Given the description of an element on the screen output the (x, y) to click on. 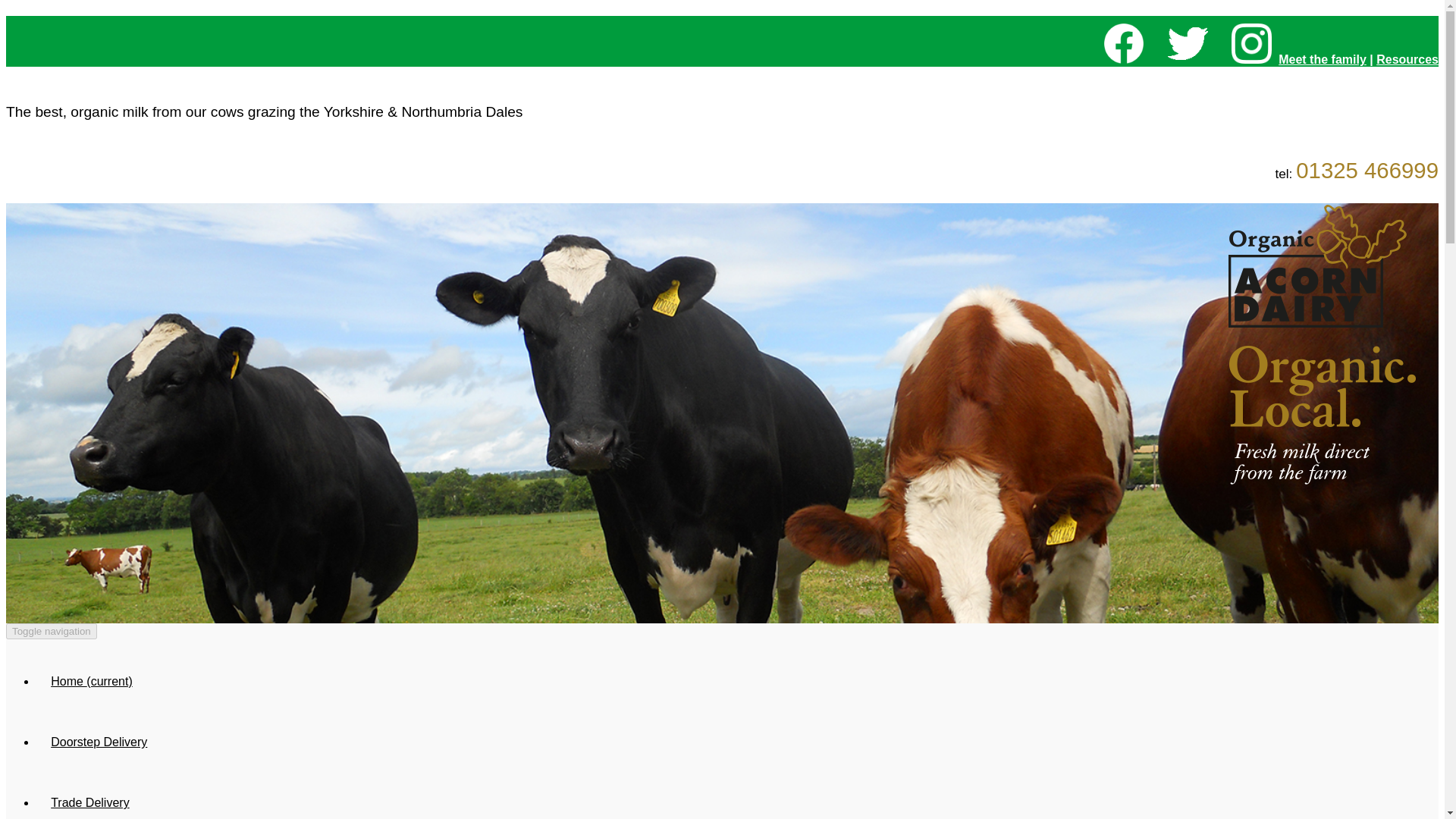
Trade Delivery (90, 796)
Doorstep Delivery (98, 742)
Toggle navigation (51, 631)
Meet the family (1322, 59)
